Given the description of an element on the screen output the (x, y) to click on. 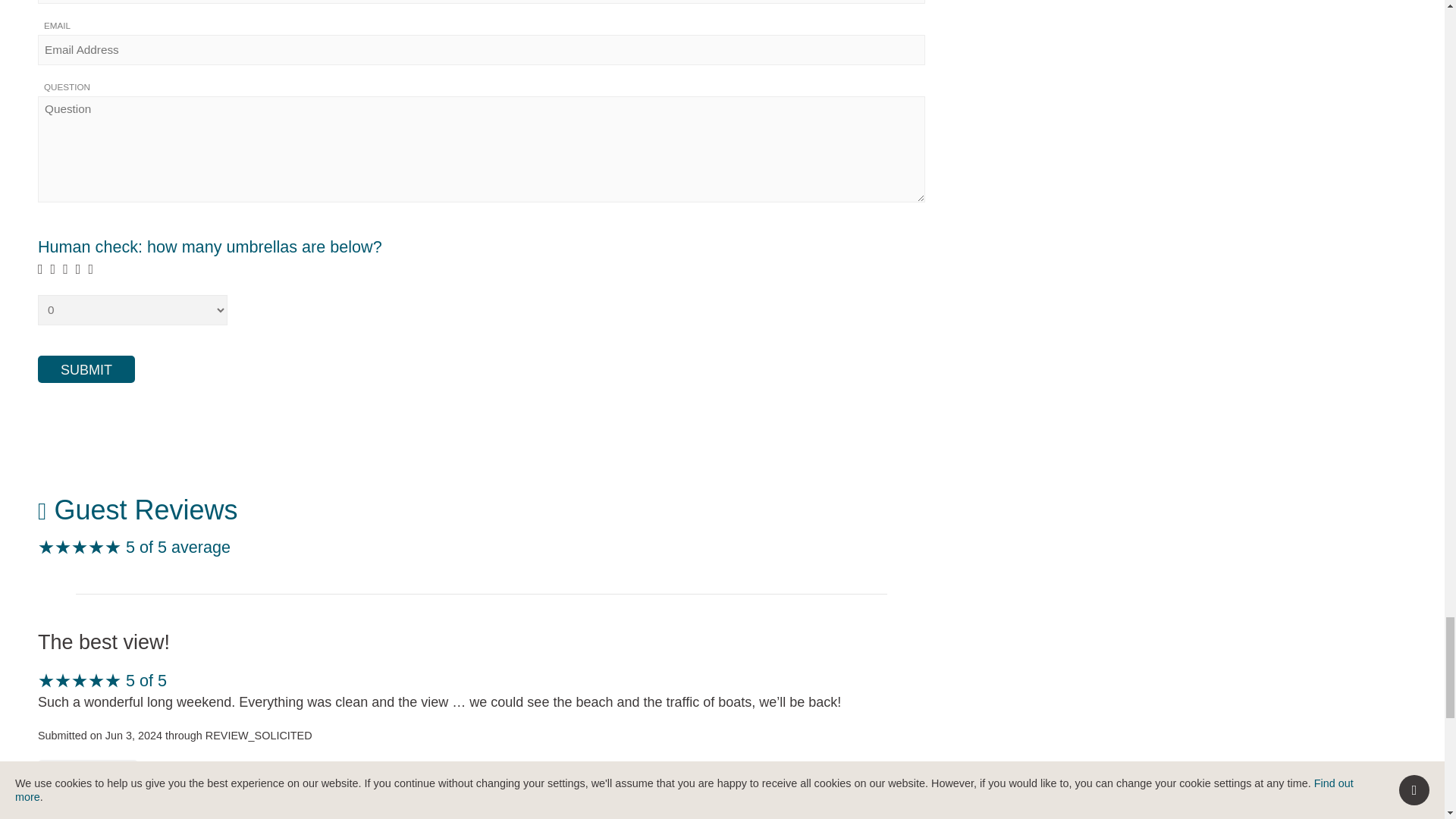
Submit (86, 369)
Load More (87, 773)
Submit (86, 369)
Load More (87, 773)
